Given the description of an element on the screen output the (x, y) to click on. 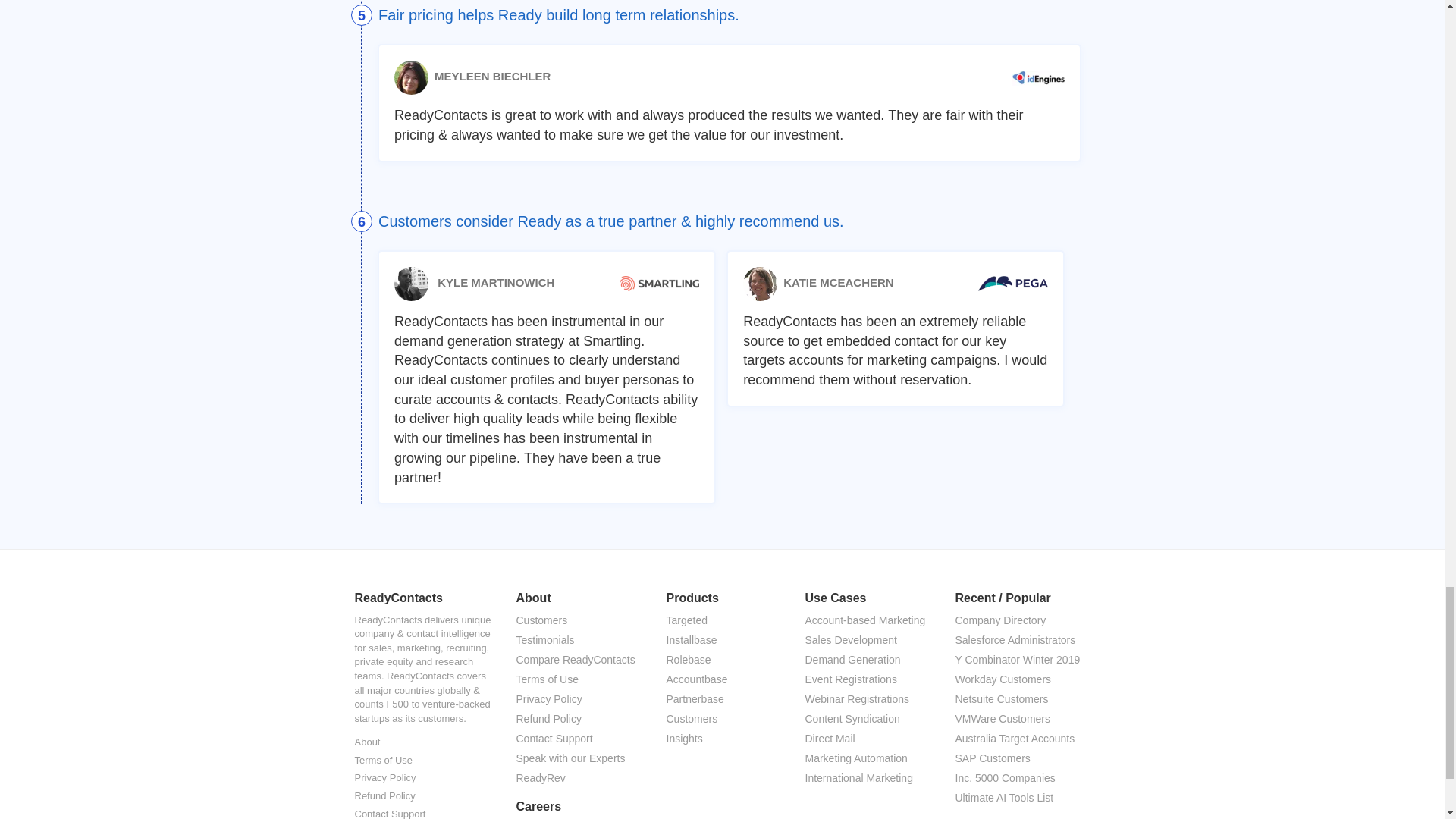
Testimonials (577, 640)
Customers (577, 620)
Installbase (722, 640)
Speak with our Experts (577, 759)
ReadyRev (577, 778)
Privacy Policy (577, 700)
Targeted (722, 620)
Account-based Marketing (866, 620)
Event Registrations (866, 680)
Privacy Policy (385, 778)
Compare ReadyContacts (577, 660)
Accountbase (722, 680)
Customers (577, 620)
Terms of Use (577, 680)
Insights (722, 739)
